Given the description of an element on the screen output the (x, y) to click on. 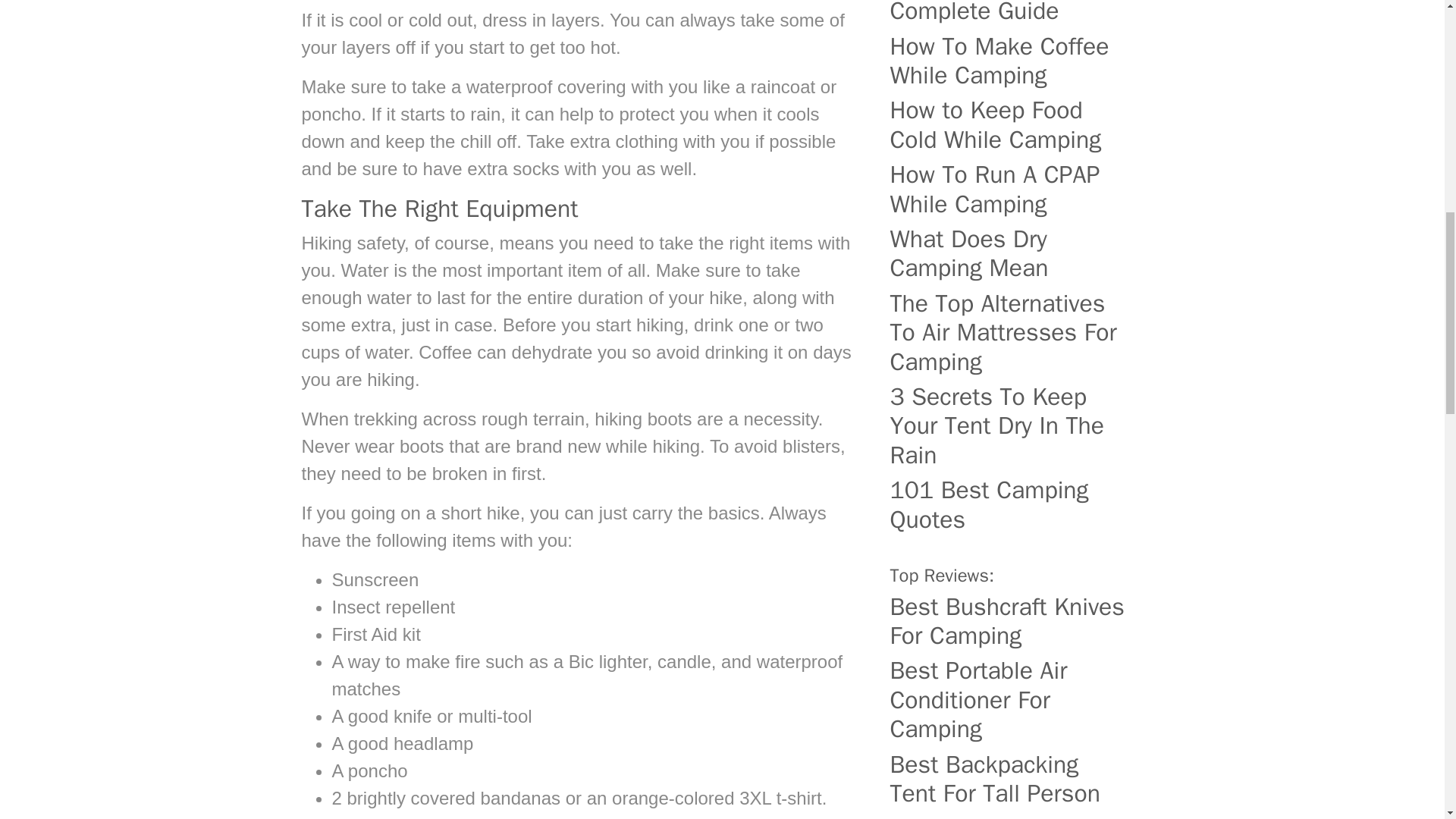
What Does Dry Camping Mean (1010, 254)
Best Folding Saws (1010, 816)
How To Run A CPAP While Camping (1010, 189)
Best Backpacking Tent For Tall Person (1010, 780)
How to Keep Food Cold While Camping (1010, 125)
Sleeping Bags A Complete Guide (1010, 13)
How To Make Coffee While Camping (1010, 61)
The Top Alternatives To Air Mattresses For Camping (1010, 332)
Best Portable Air Conditioner For Camping (1010, 699)
101 Best Camping Quotes (1010, 504)
